Given the description of an element on the screen output the (x, y) to click on. 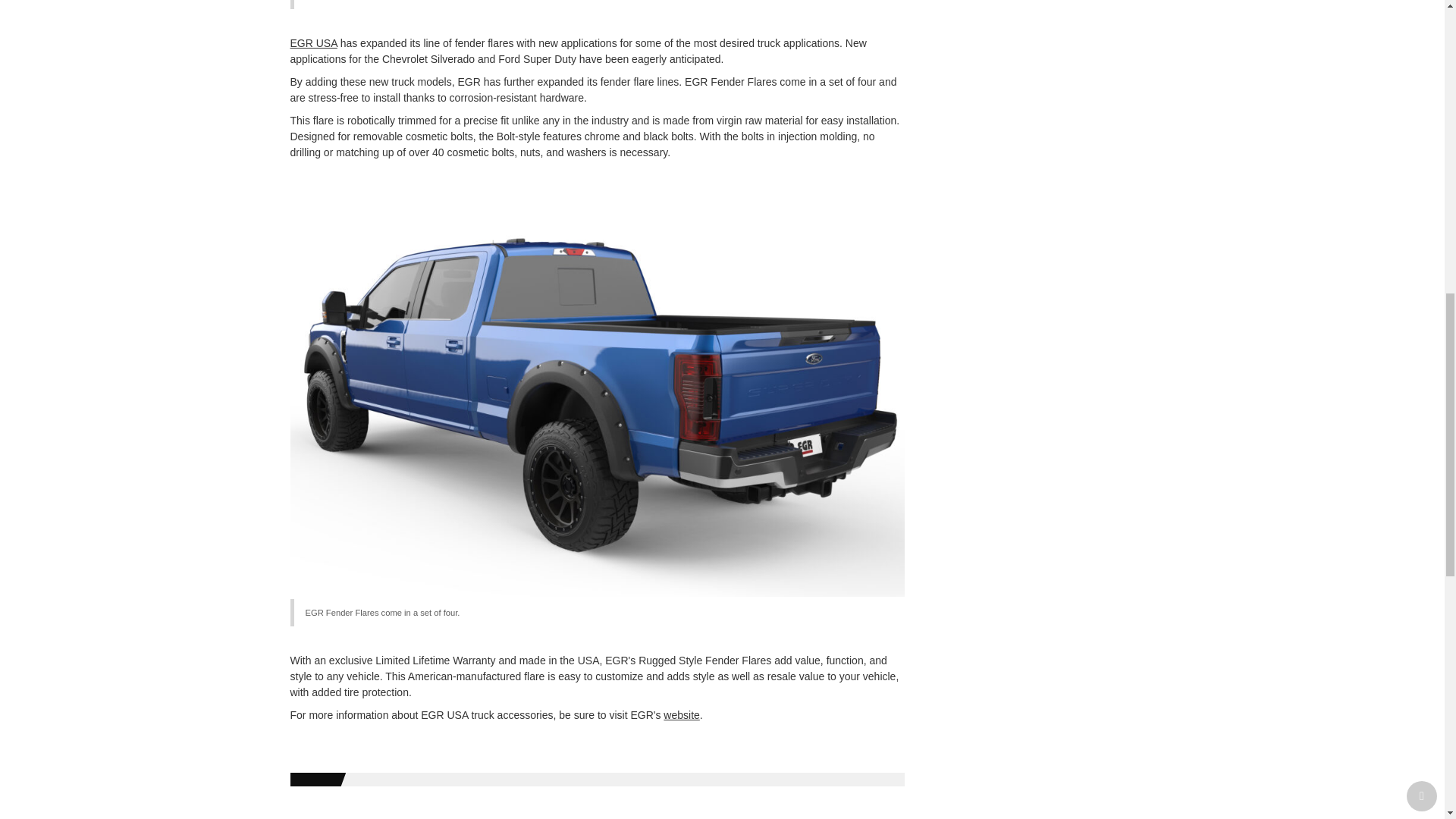
EGR USA (312, 42)
website (680, 715)
